Given the description of an element on the screen output the (x, y) to click on. 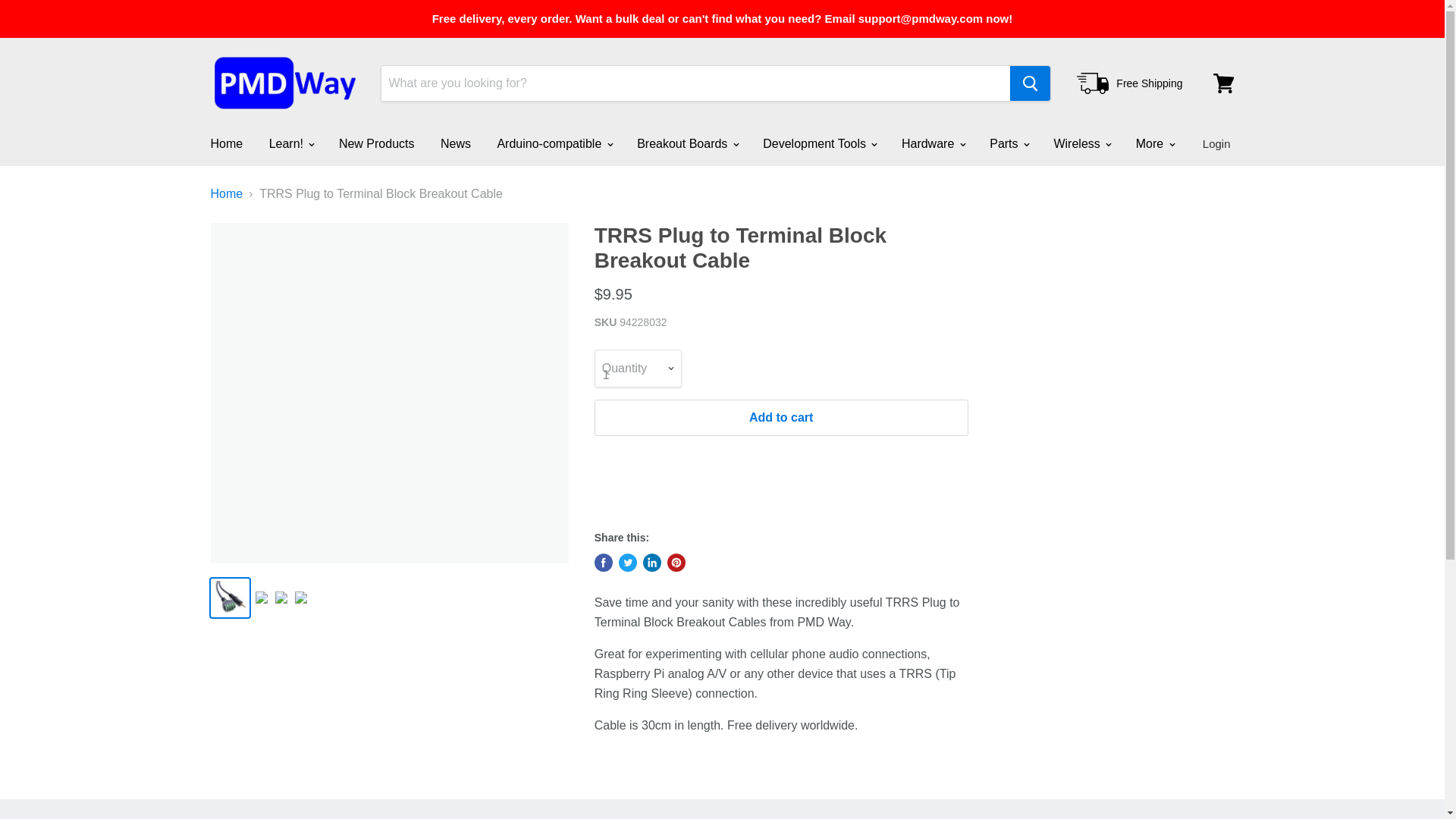
Home (225, 143)
News (455, 143)
Learn! (290, 143)
New Products (376, 143)
Arduino-compatible (552, 143)
View cart (1223, 83)
